Given the description of an element on the screen output the (x, y) to click on. 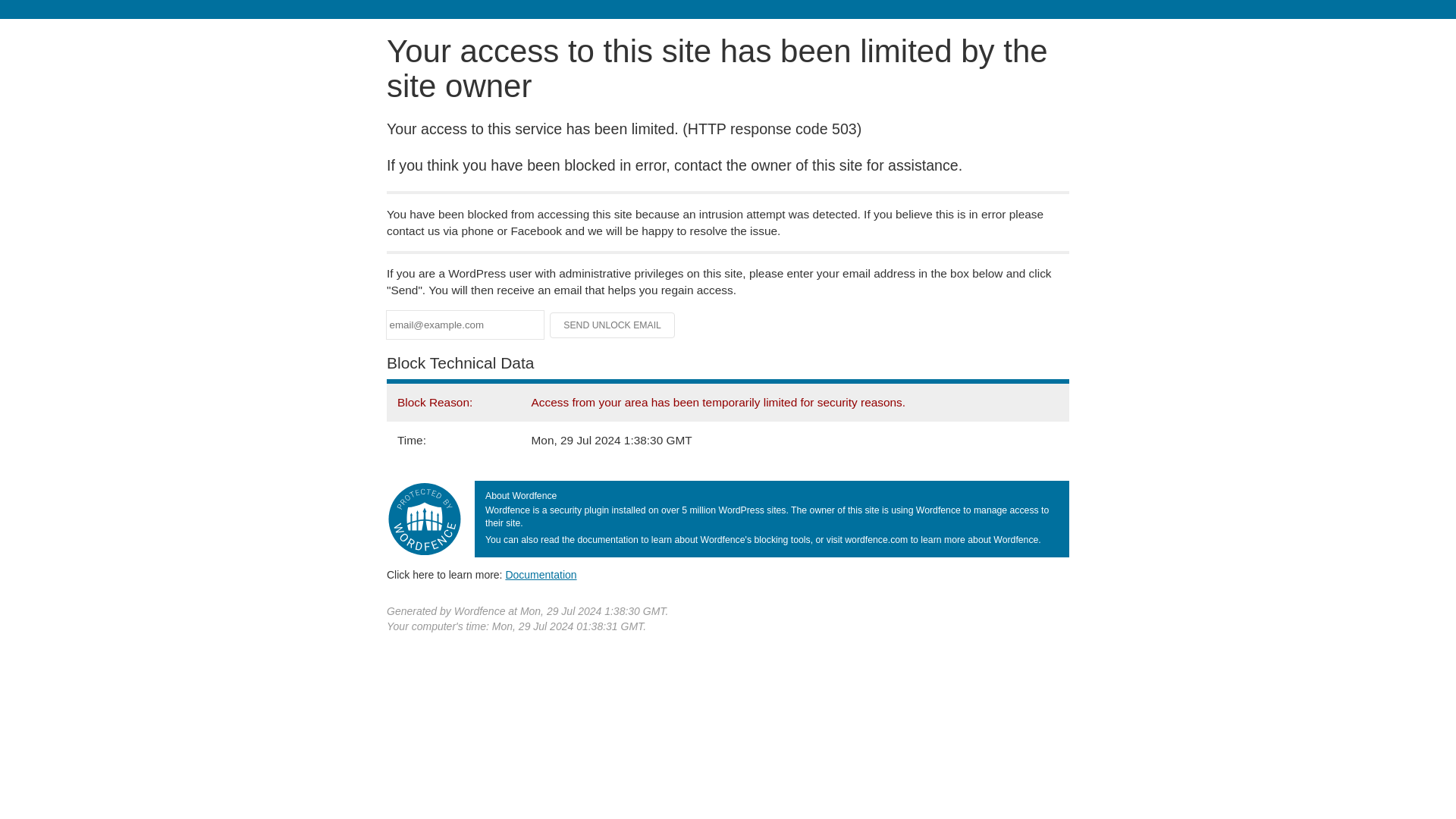
Documentation (540, 574)
Send Unlock Email (612, 325)
Send Unlock Email (612, 325)
